Given the description of an element on the screen output the (x, y) to click on. 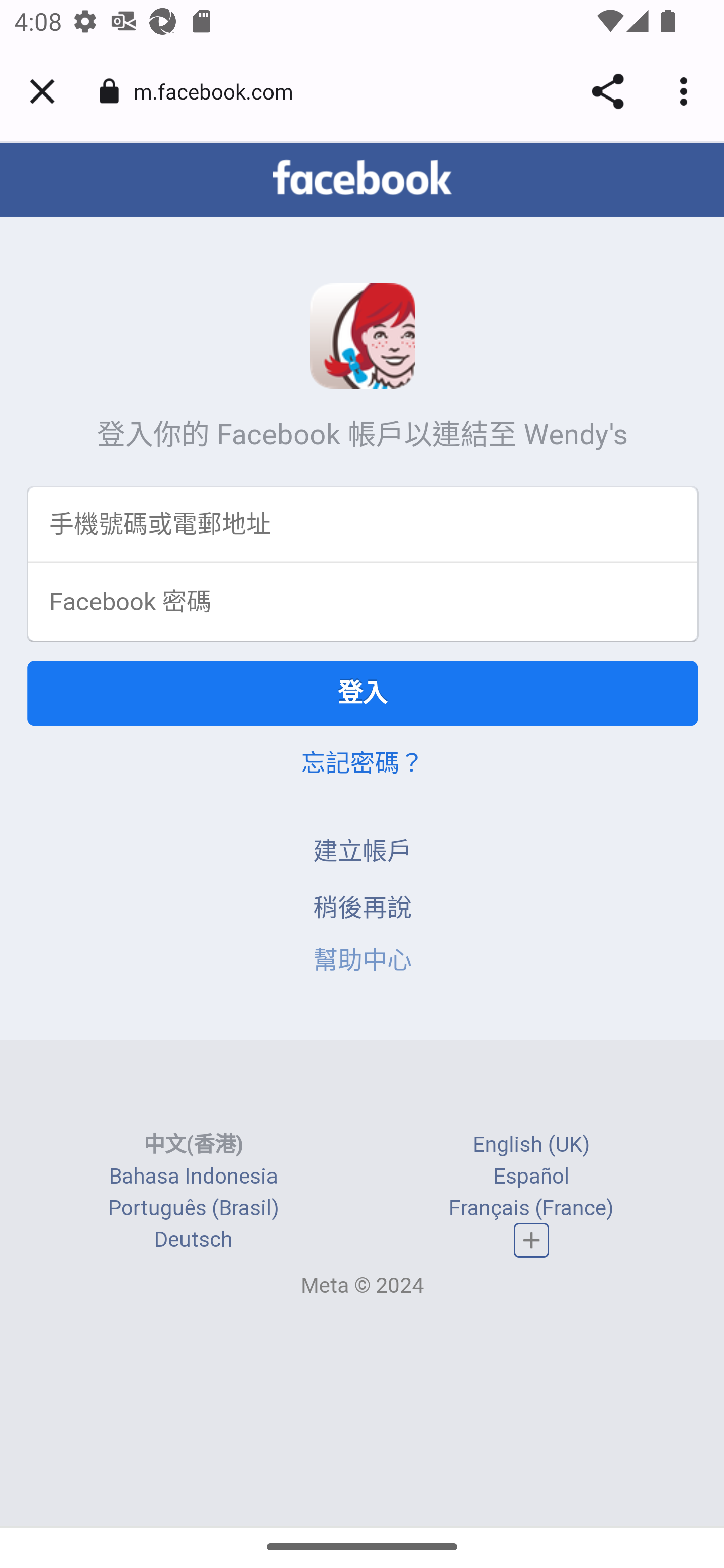
Close tab (42, 91)
Share (607, 91)
More options (687, 91)
Connection is secure (108, 91)
m.facebook.com (219, 90)
facebook (361, 179)
登入 (363, 694)
忘記密碼？ (362, 764)
建立帳戶 (363, 852)
稍後再說 (363, 909)
幫助中心 (363, 962)
English (UK) (531, 1145)
Bahasa Indonesia (193, 1177)
Español (531, 1177)
Português (Brasil) (193, 1208)
Français (France) (530, 1208)
完整的語言清單 (531, 1241)
Deutsch (192, 1240)
